Given the description of an element on the screen output the (x, y) to click on. 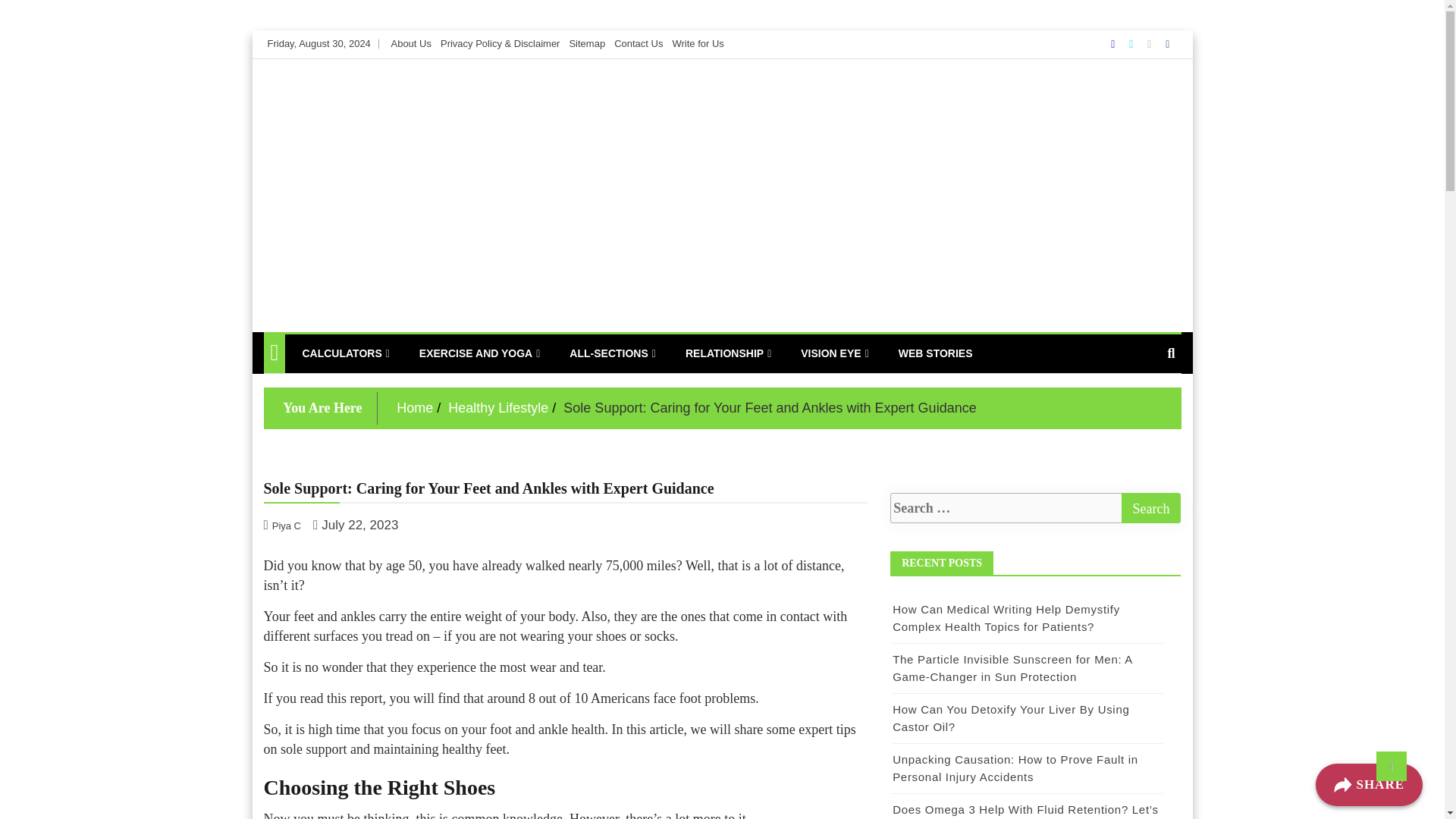
About Us (410, 43)
Search (1150, 508)
Search (1150, 508)
Contact Us (638, 43)
CALCULATORS (344, 353)
EXERCISE AND YOGA (479, 353)
Sitemap (587, 43)
Write for Us (697, 43)
